Given the description of an element on the screen output the (x, y) to click on. 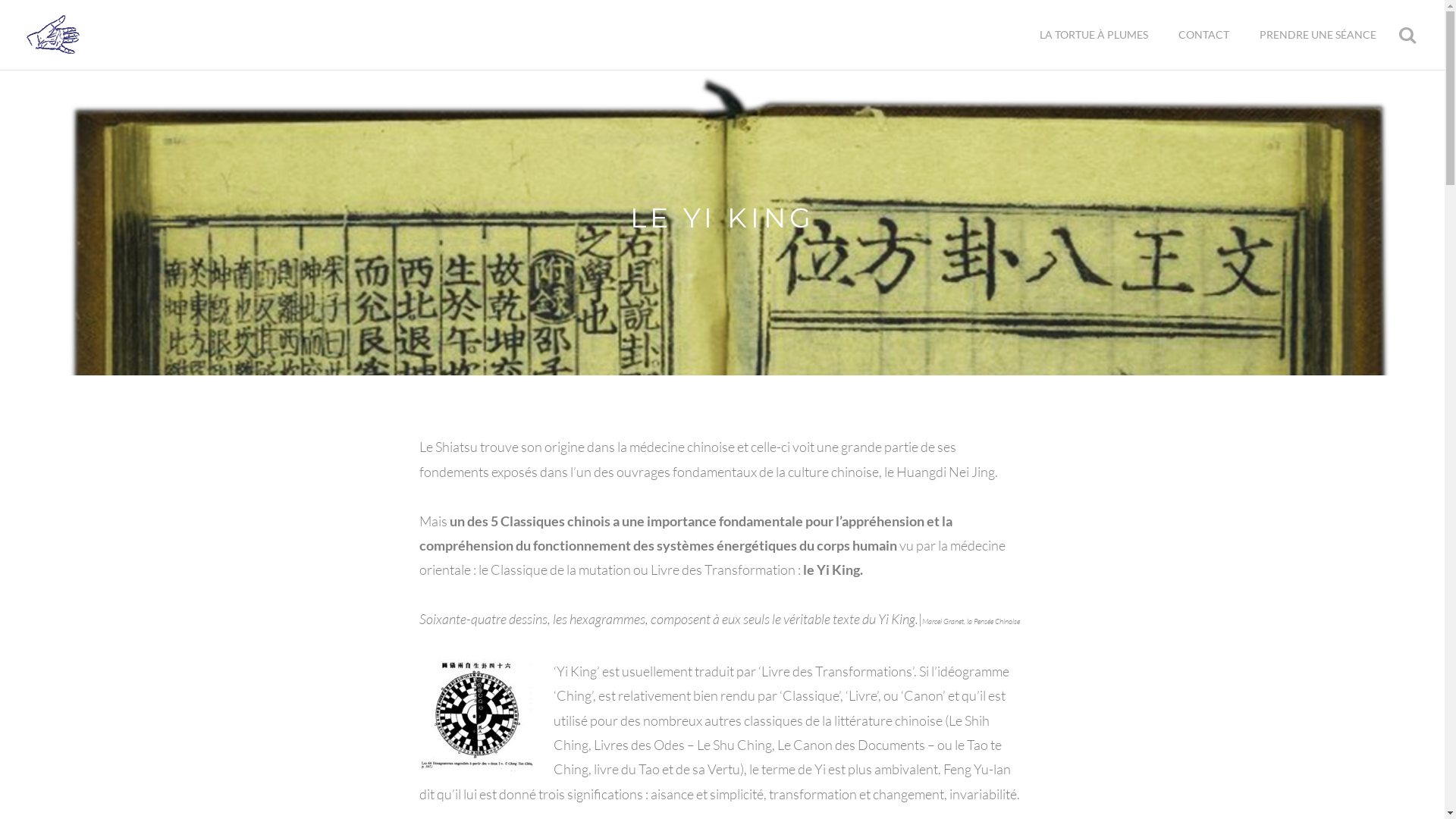
CONTACT Element type: text (1203, 34)
